Given the description of an element on the screen output the (x, y) to click on. 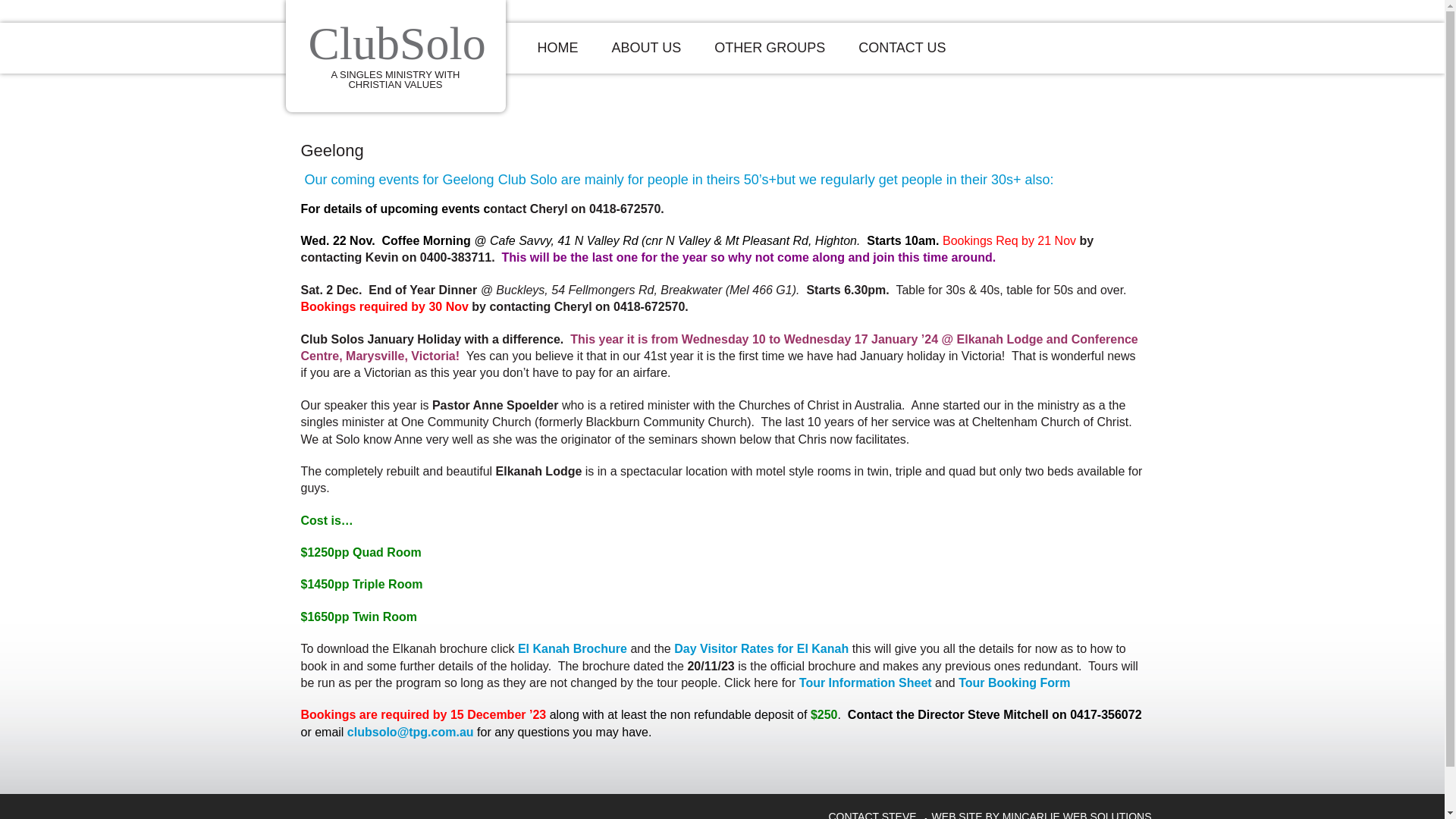
CONTACT US Element type: text (901, 47)
Tour Booking Form Element type: text (1014, 682)
Day Visitor Rates for El Kanah Element type: text (761, 648)
ABOUT US Element type: text (645, 47)
clubsolo@tpg.com.au Element type: text (410, 731)
El Kanah Brochure Element type: text (572, 648)
Skip to primary navigation Element type: text (0, 0)
Tour Information Sheet Element type: text (865, 682)
ClubSolo Element type: text (396, 43)
OTHER GROUPS Element type: text (769, 47)
HOME Element type: text (557, 47)
